Given the description of an element on the screen output the (x, y) to click on. 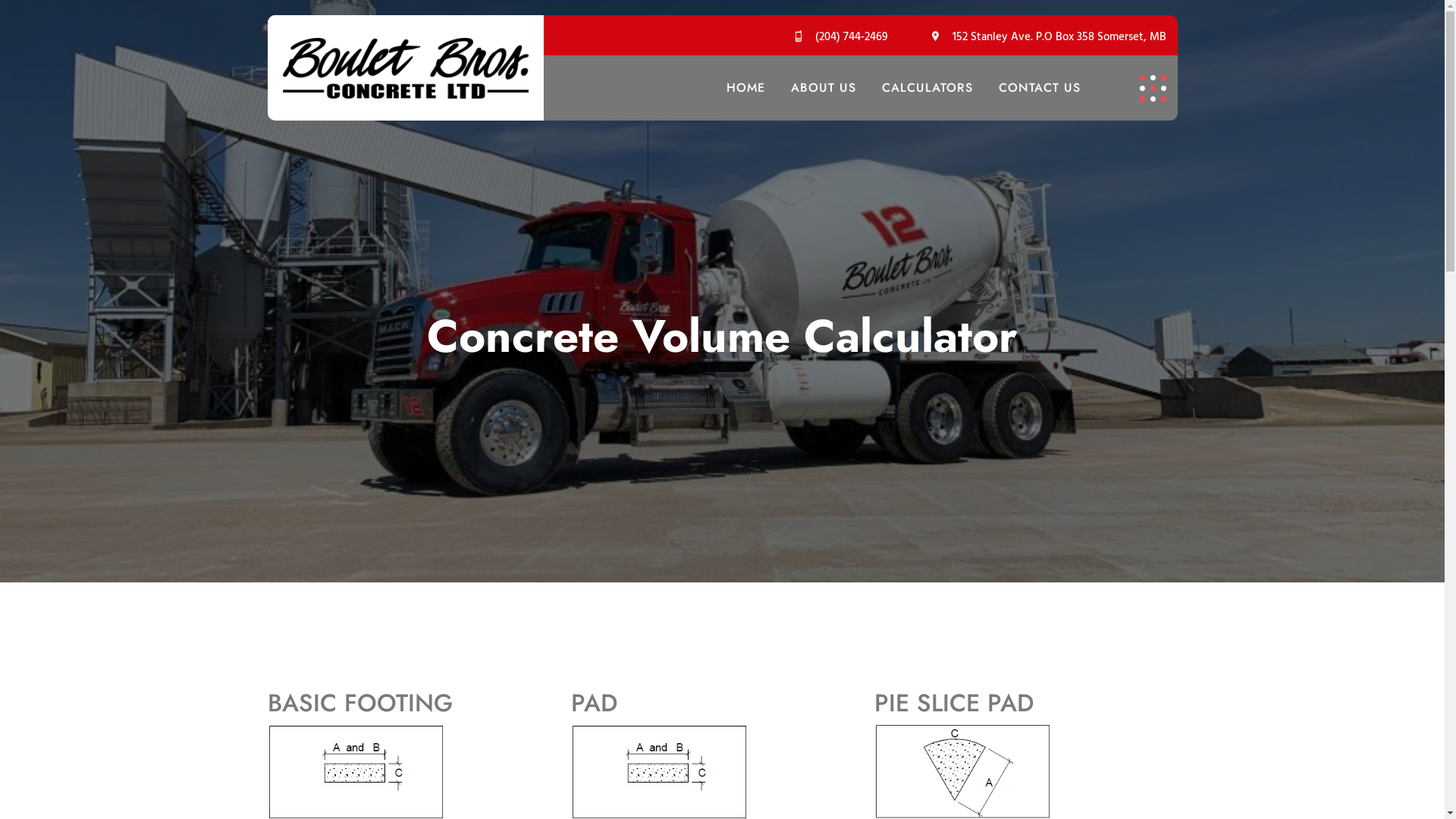
HOME Element type: text (745, 87)
CONTACT US Element type: text (1039, 87)
ABOUT US Element type: text (823, 87)
CALCULATORS Element type: text (927, 87)
